Given the description of an element on the screen output the (x, y) to click on. 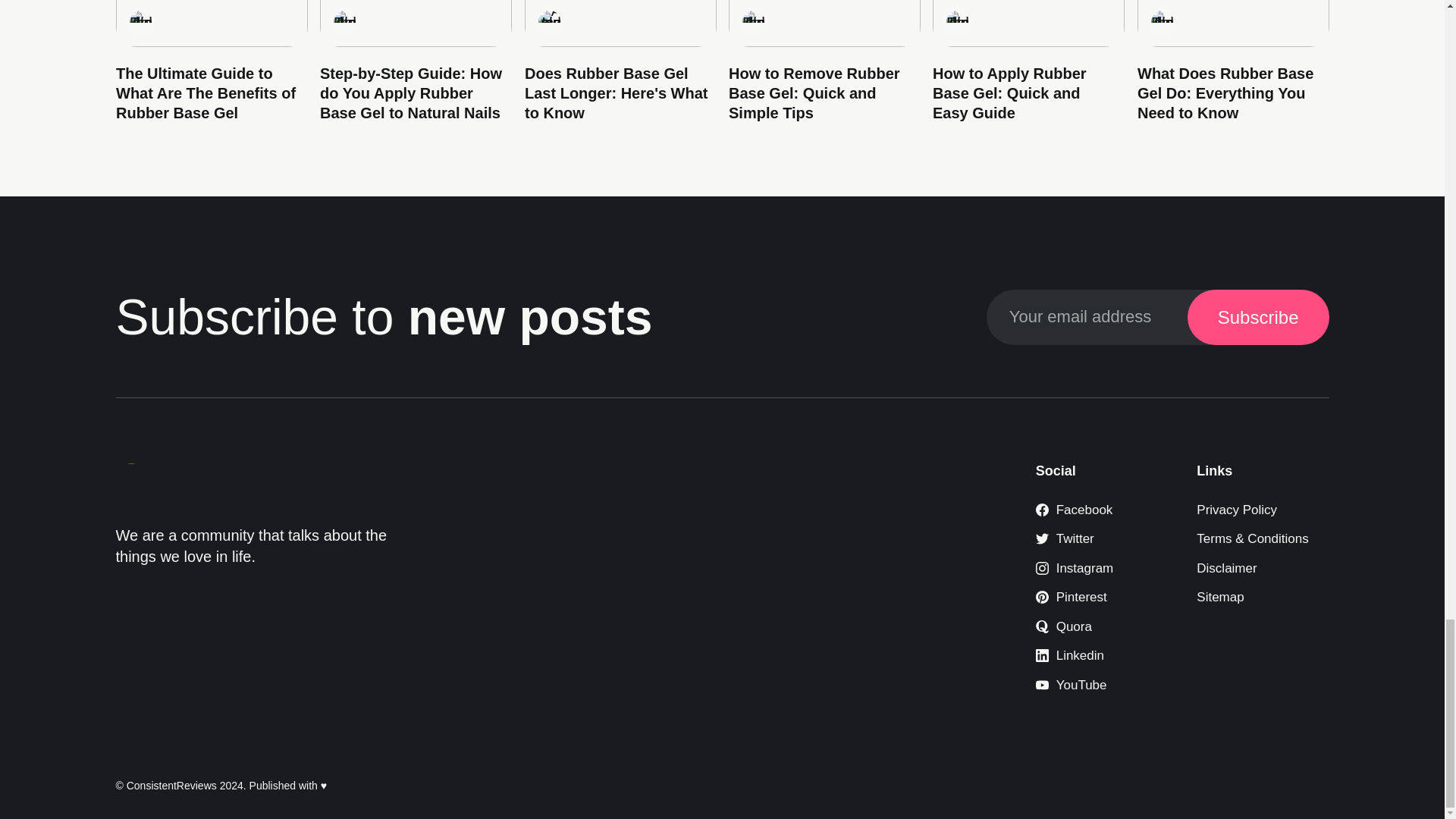
Does Rubber Base Gel Last Longer: Here's What to Know (615, 92)
Subscribe (1258, 316)
Instagram (1074, 568)
Raihan Uddin (957, 21)
Raihan Uddin (344, 21)
Twitter (1064, 538)
Amzad Hossain (548, 21)
How to Remove Rubber Base Gel: Quick and Simple Tips (813, 92)
Raihan Uddin (1161, 21)
Raihan Uddin (140, 21)
Facebook (1074, 509)
What Does Rubber Base Gel Do: Everything You Need to Know (1225, 92)
How to Apply Rubber Base Gel: Quick and Easy Guide (1009, 92)
